Given the description of an element on the screen output the (x, y) to click on. 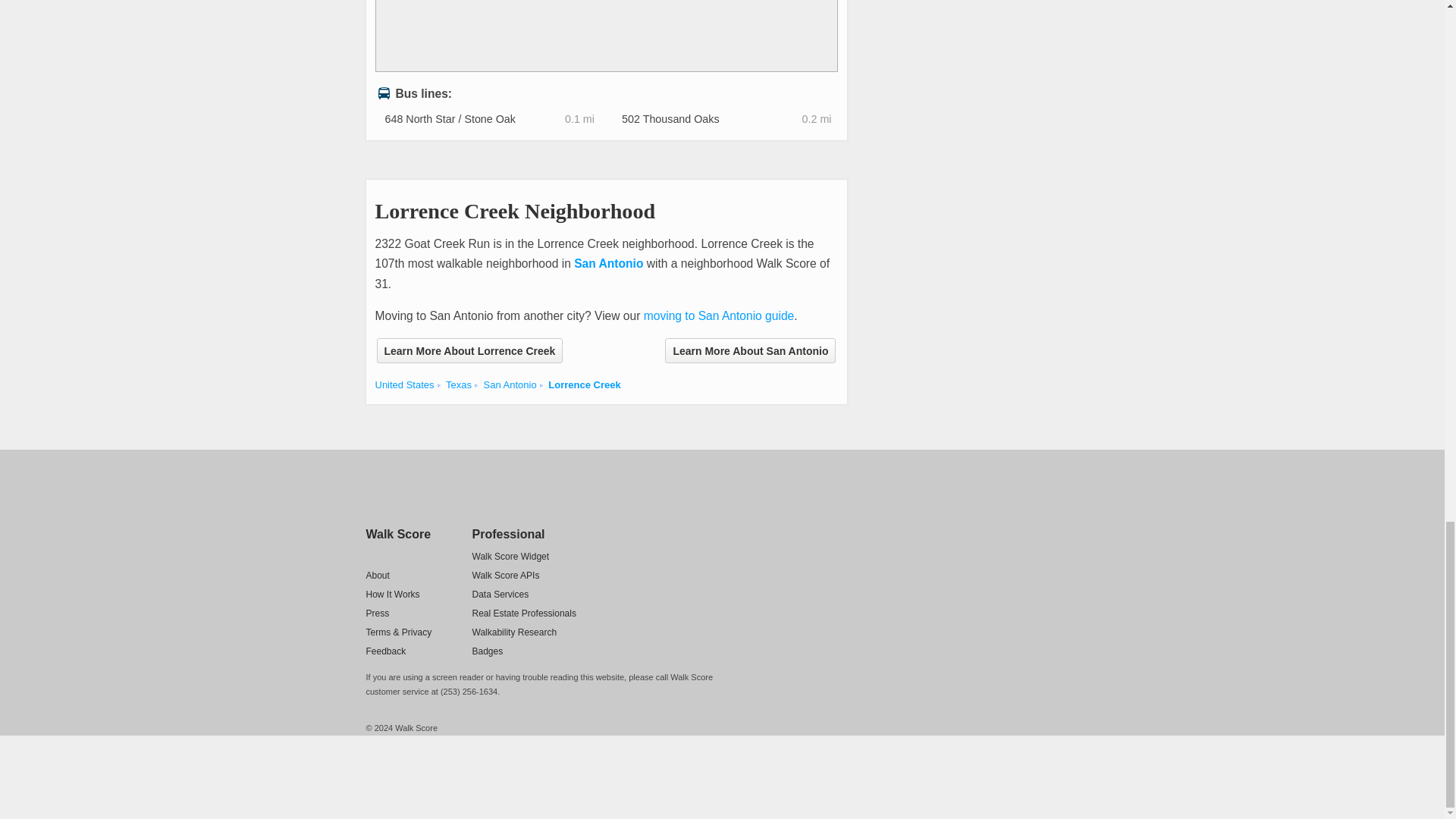
Learn More About San Antonio (750, 350)
Cities in Texas state (458, 384)
moving to San Antonio guide (718, 315)
Learn More About Lorrence Creek (468, 350)
United States (403, 384)
United States Walkability Rankings (403, 384)
San Antonio (608, 263)
